Given the description of an element on the screen output the (x, y) to click on. 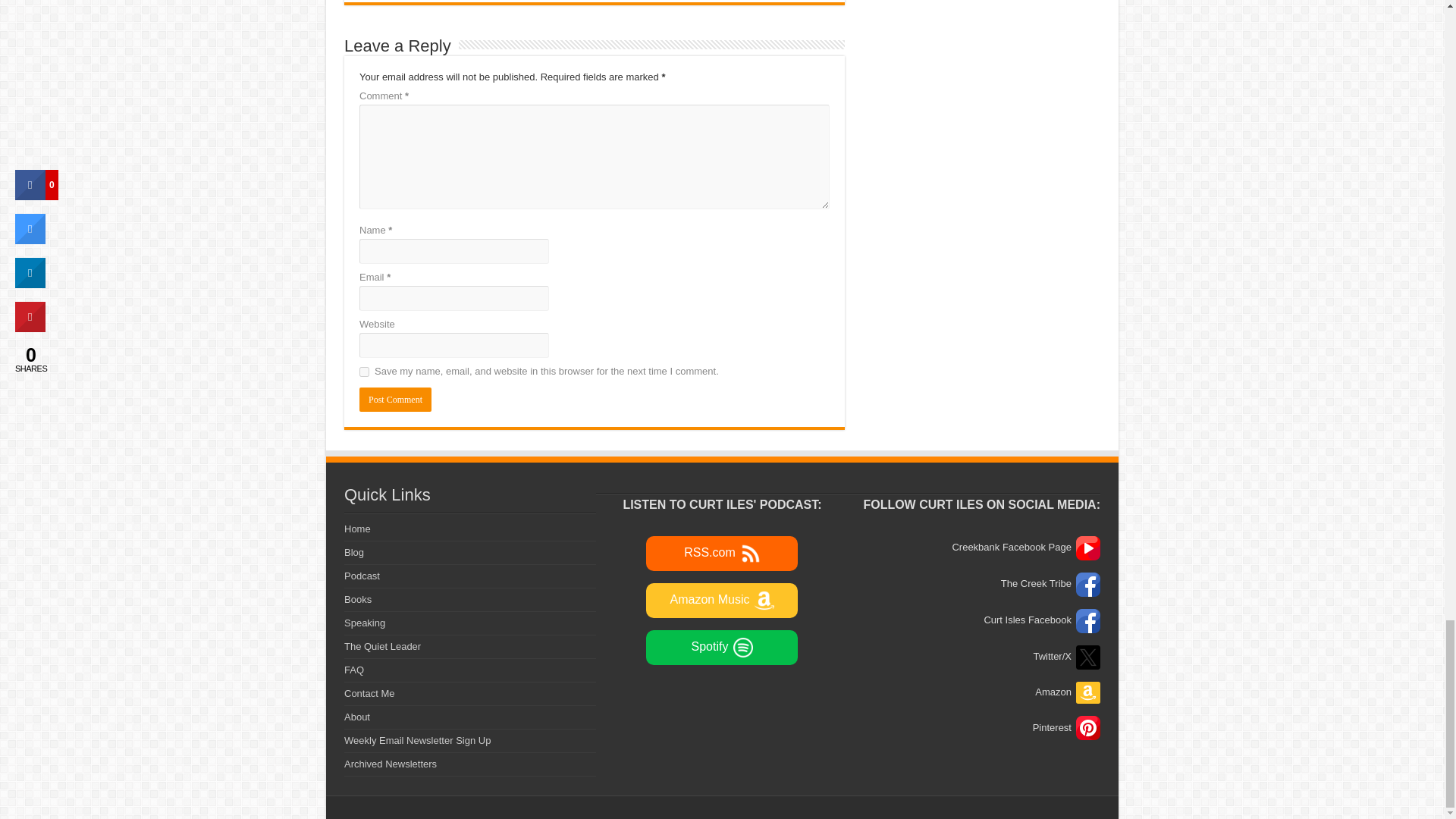
yes (364, 371)
Post Comment (394, 399)
